Given the description of an element on the screen output the (x, y) to click on. 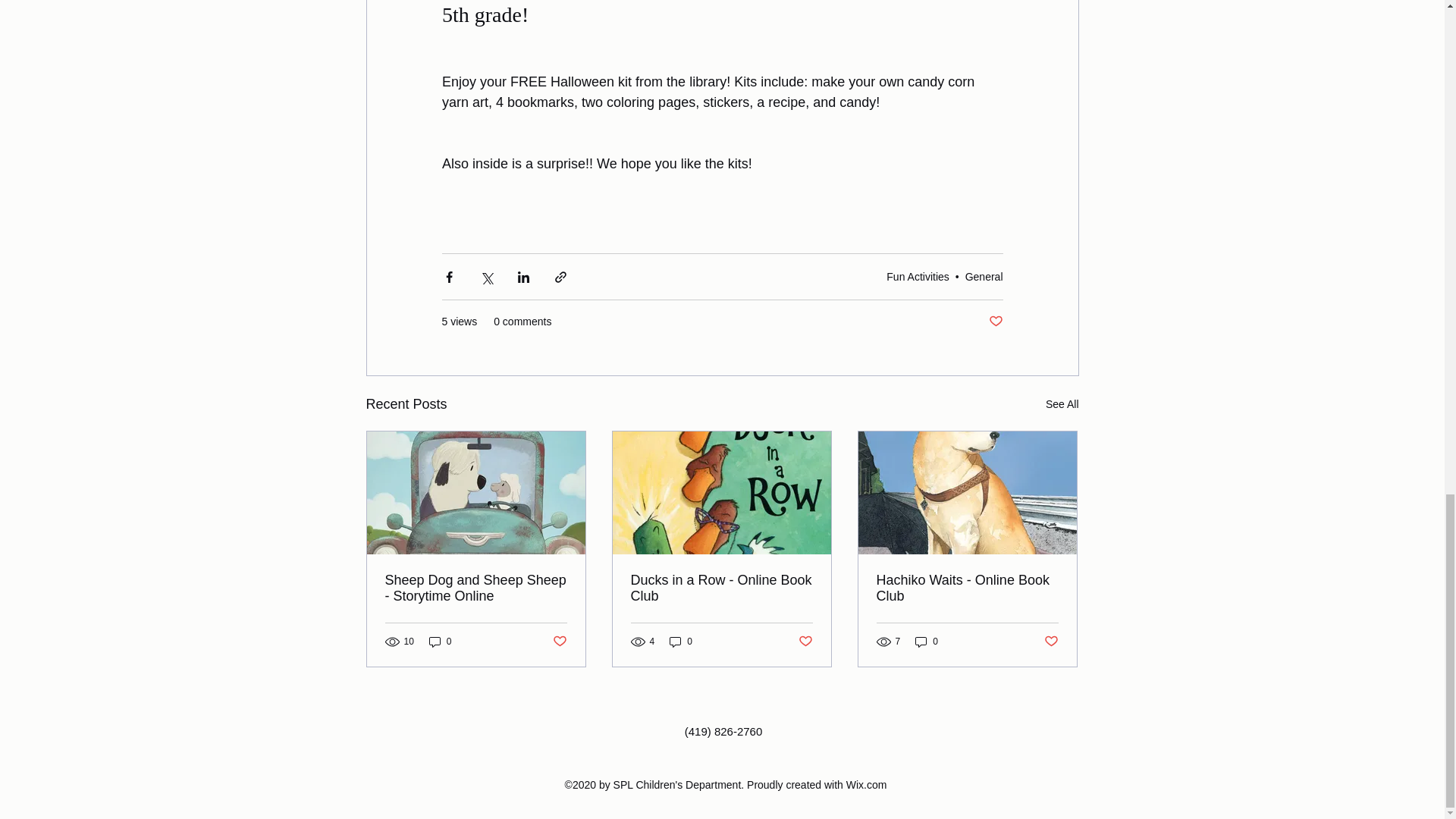
Fun Activities (917, 276)
See All (1061, 404)
Sheep Dog and Sheep Sheep - Storytime Online (476, 588)
Post not marked as liked (995, 321)
General (984, 276)
0 (440, 641)
